Given the description of an element on the screen output the (x, y) to click on. 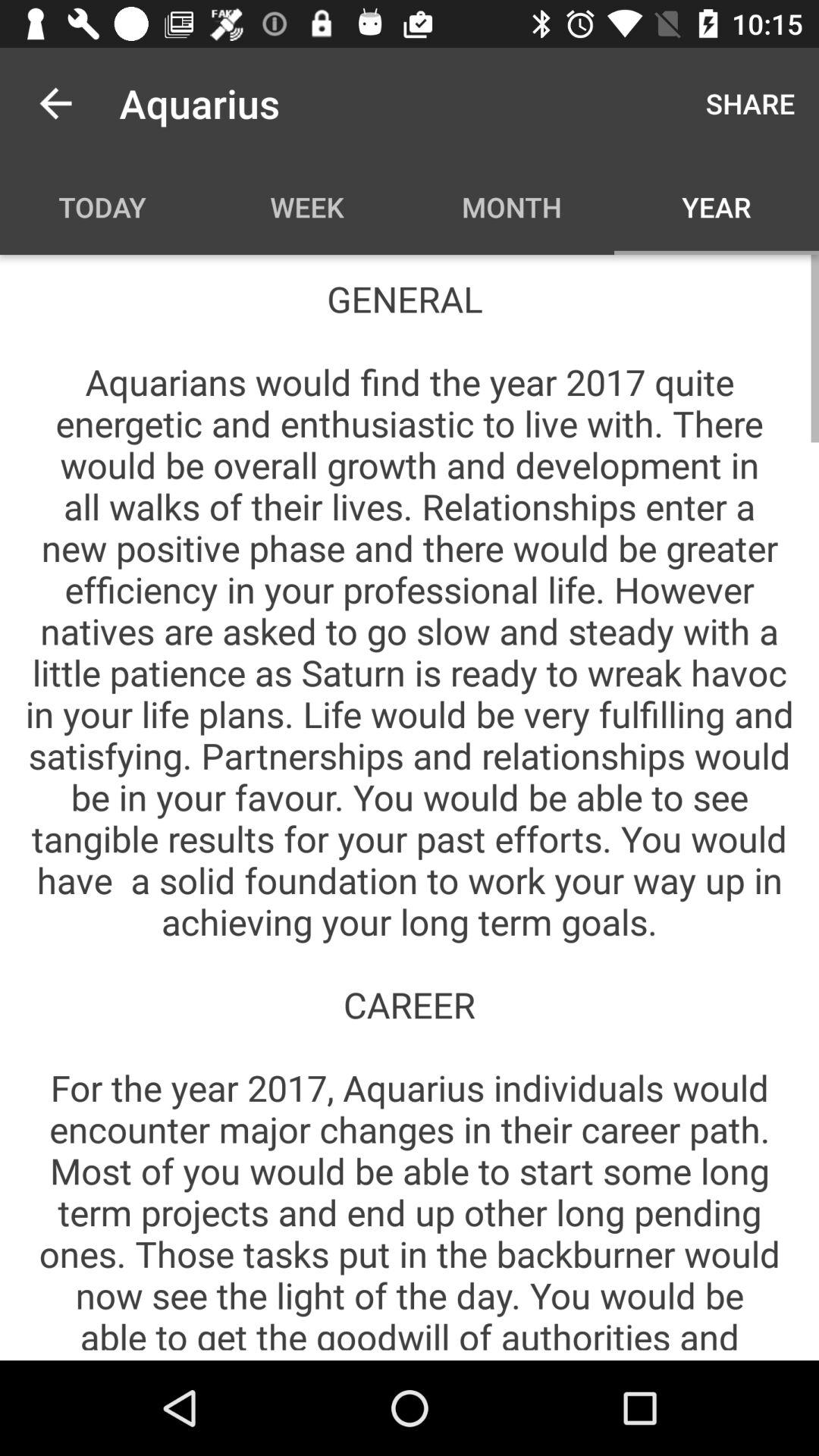
open app to the right of the aquarius item (750, 103)
